Given the description of an element on the screen output the (x, y) to click on. 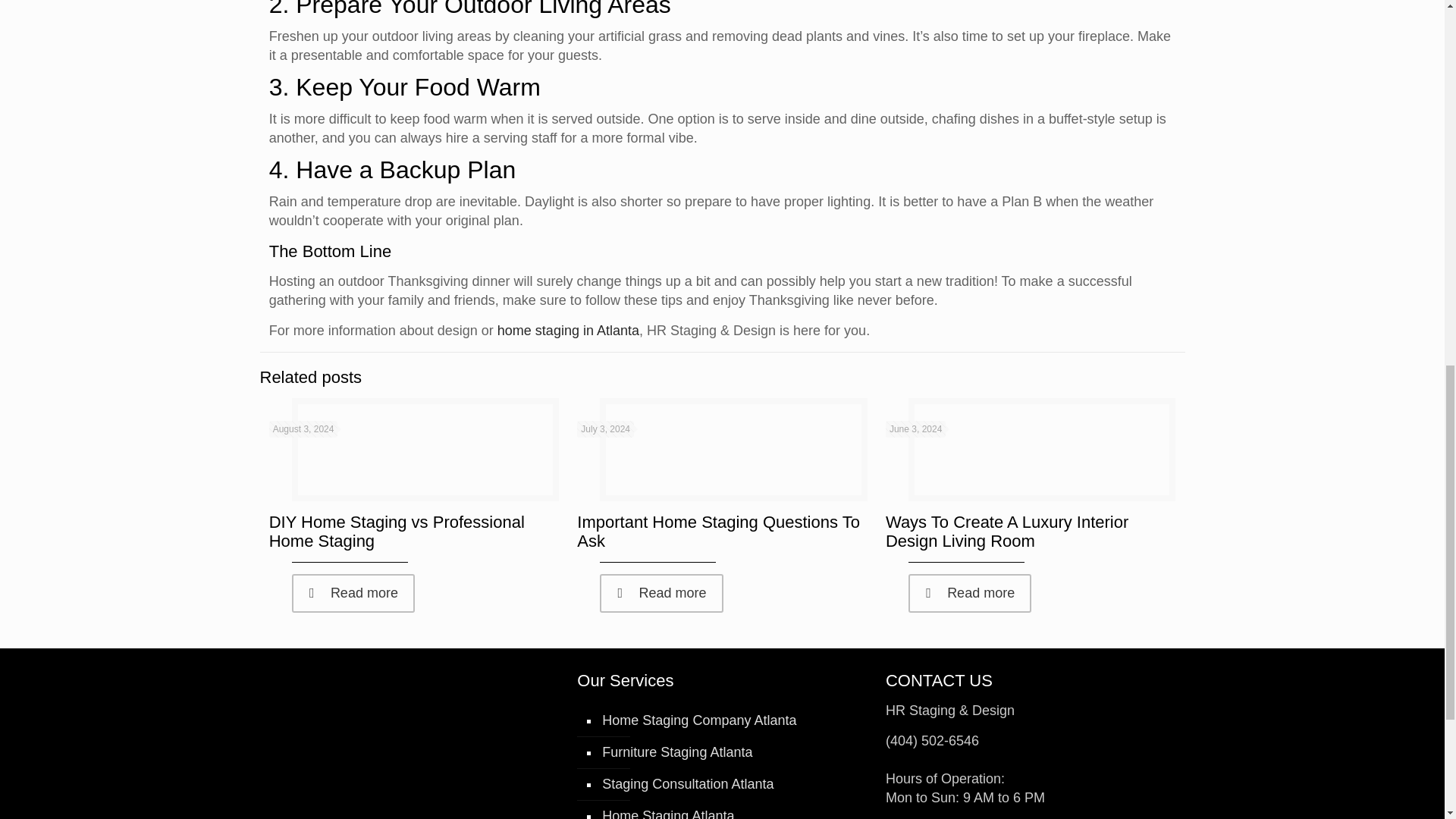
Read more (353, 593)
home staging in Atlanta (568, 330)
DIY Home Staging vs Professional Home Staging (396, 531)
Important Home Staging Questions To Ask (718, 531)
Read more (660, 593)
